Given the description of an element on the screen output the (x, y) to click on. 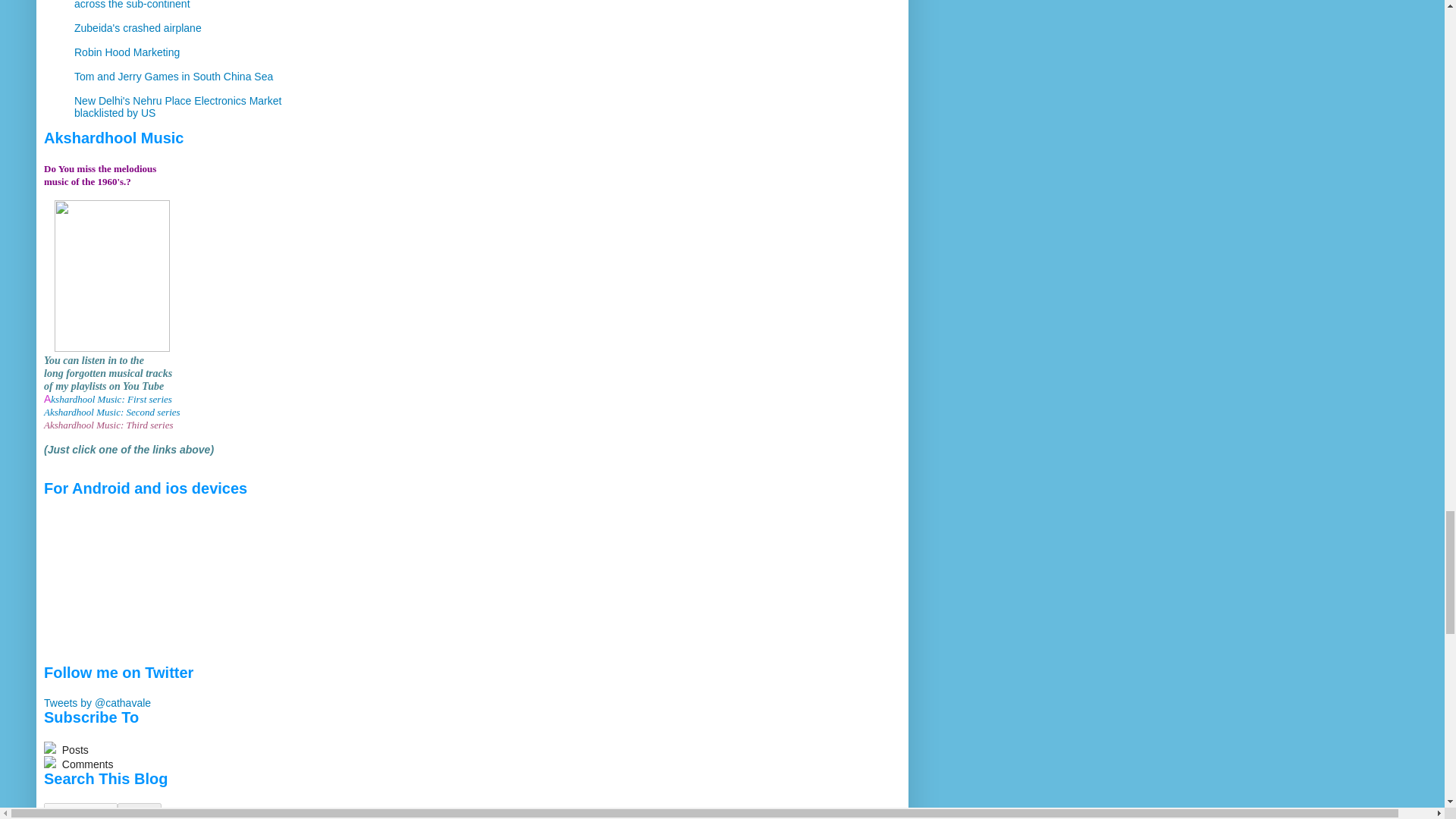
Search (139, 811)
Search (139, 811)
